Given the description of an element on the screen output the (x, y) to click on. 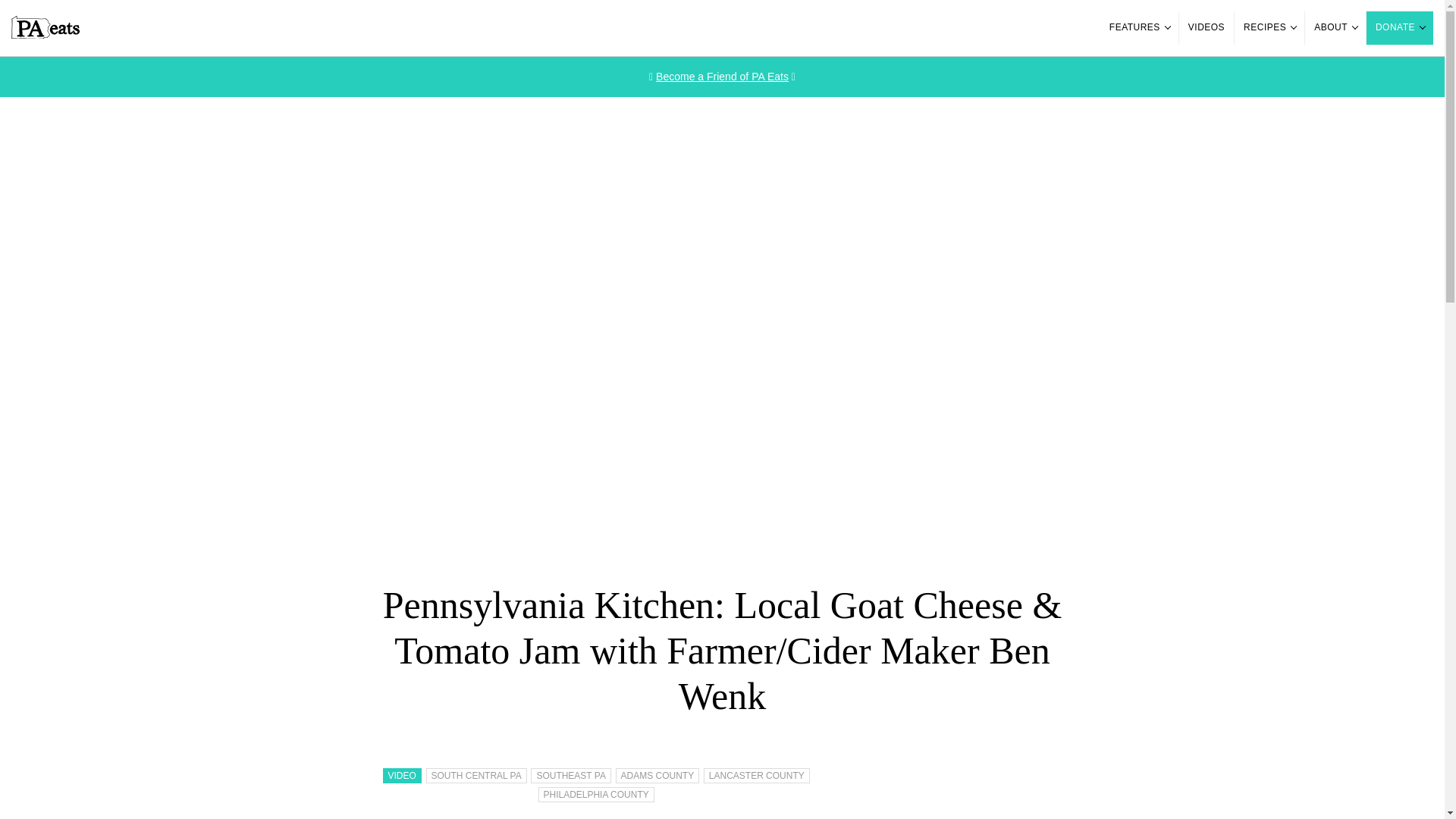
DONATE (1399, 28)
VIDEOS (1206, 28)
PA Eats Logo (45, 34)
ABOUT (1334, 28)
FEATURES (1138, 28)
RECIPES (1269, 28)
PA Eats Logo (45, 26)
